Given the description of an element on the screen output the (x, y) to click on. 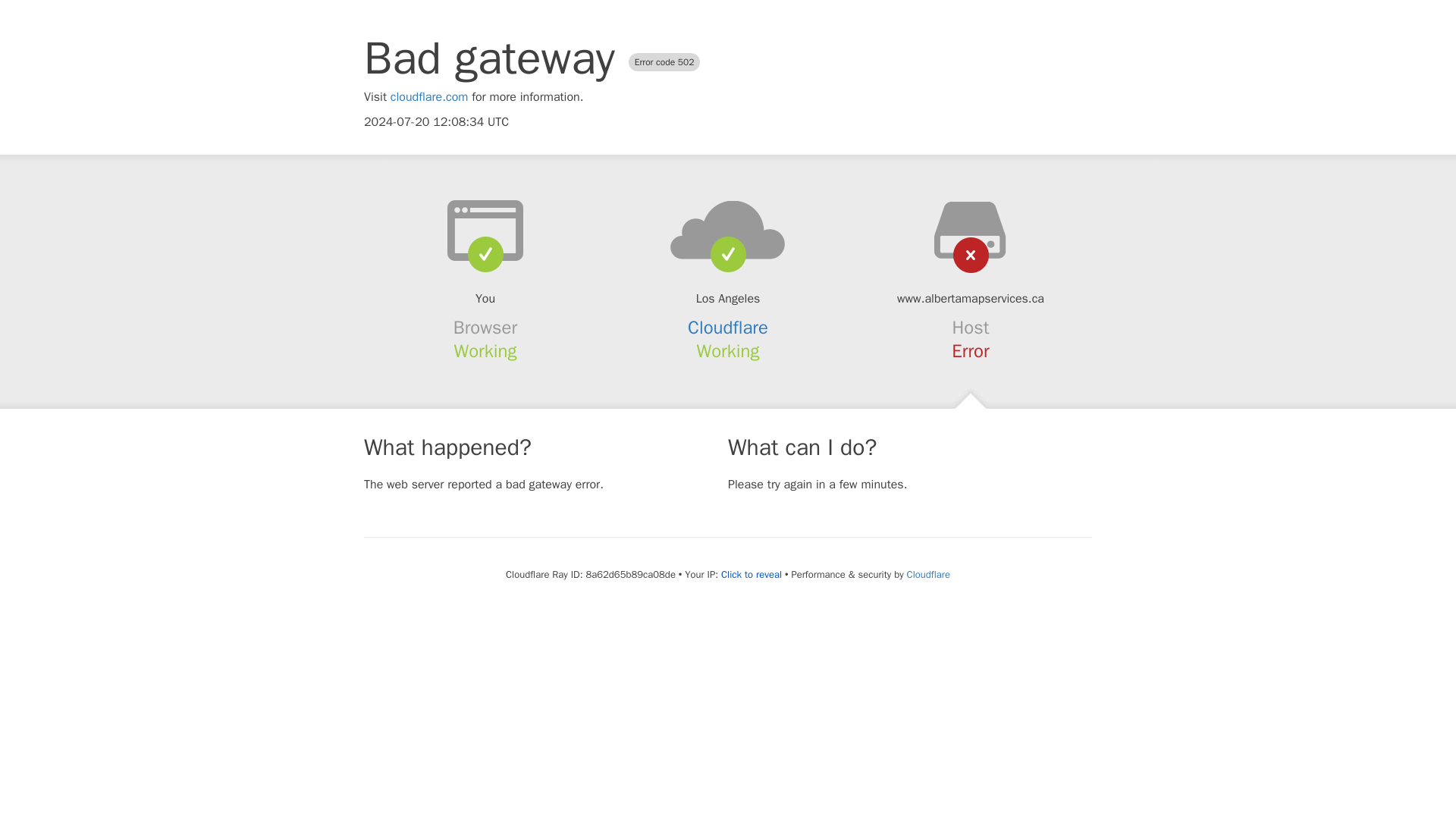
Cloudflare (727, 327)
Cloudflare (928, 574)
cloudflare.com (429, 96)
Click to reveal (750, 574)
